Given the description of an element on the screen output the (x, y) to click on. 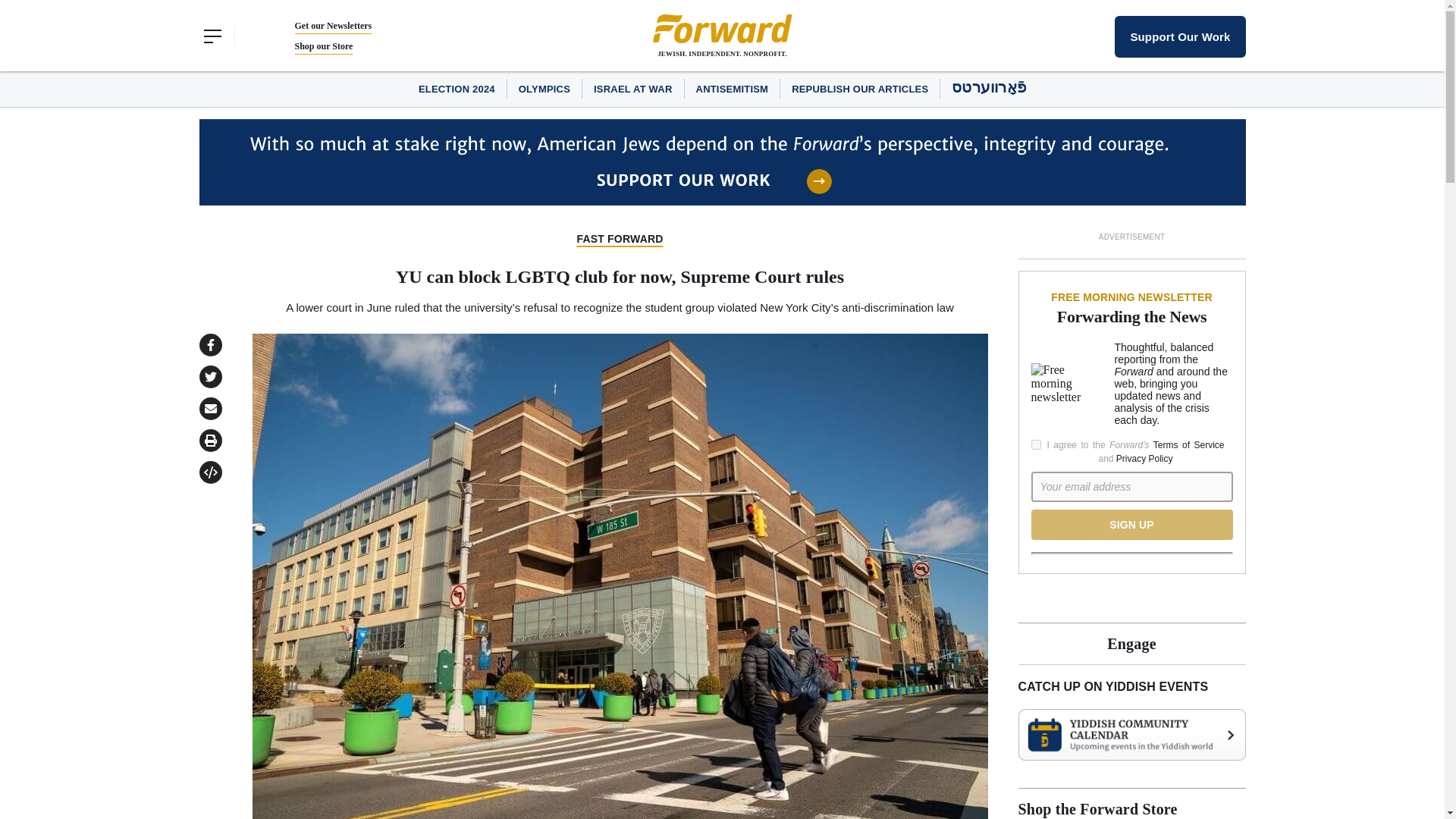
ELECTION 2024 (457, 89)
Click to open publish popup (209, 472)
OLYMPICS (544, 89)
Get our Newsletters (332, 26)
ISRAEL AT WAR (632, 89)
Shop our Store (323, 46)
Support Our Work (1179, 35)
Yes (1035, 444)
Sign Up (1131, 524)
